Given the description of an element on the screen output the (x, y) to click on. 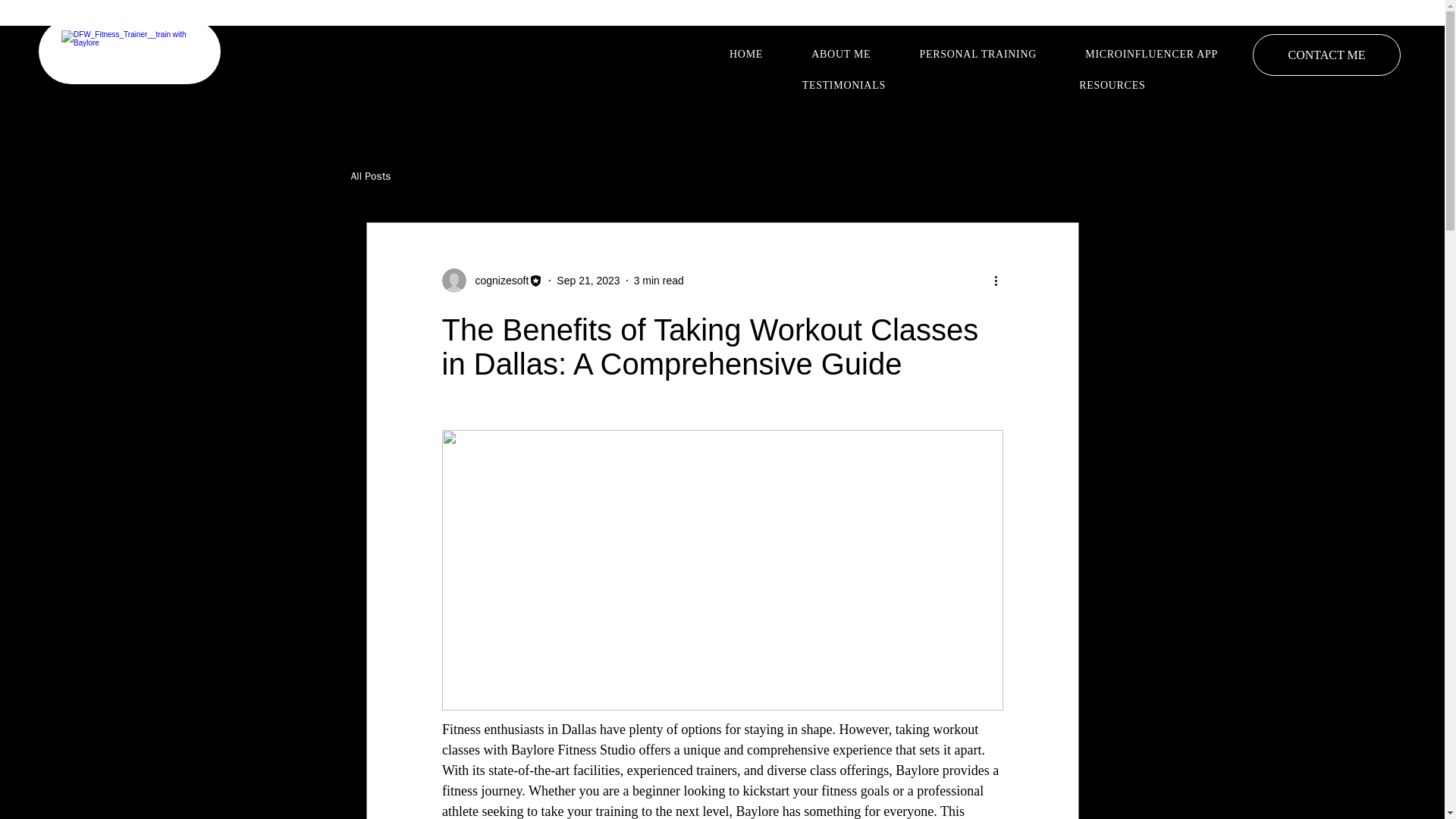
HOME (745, 53)
Sep 21, 2023 (588, 280)
3 min read (658, 280)
TESTIMONIALS (843, 84)
PERSONAL TRAINING (978, 53)
cognizesoft (492, 280)
MICROINFLUENCER APP (1151, 53)
All Posts (370, 176)
cognizesoft (496, 280)
CONTACT ME (1326, 55)
